Given the description of an element on the screen output the (x, y) to click on. 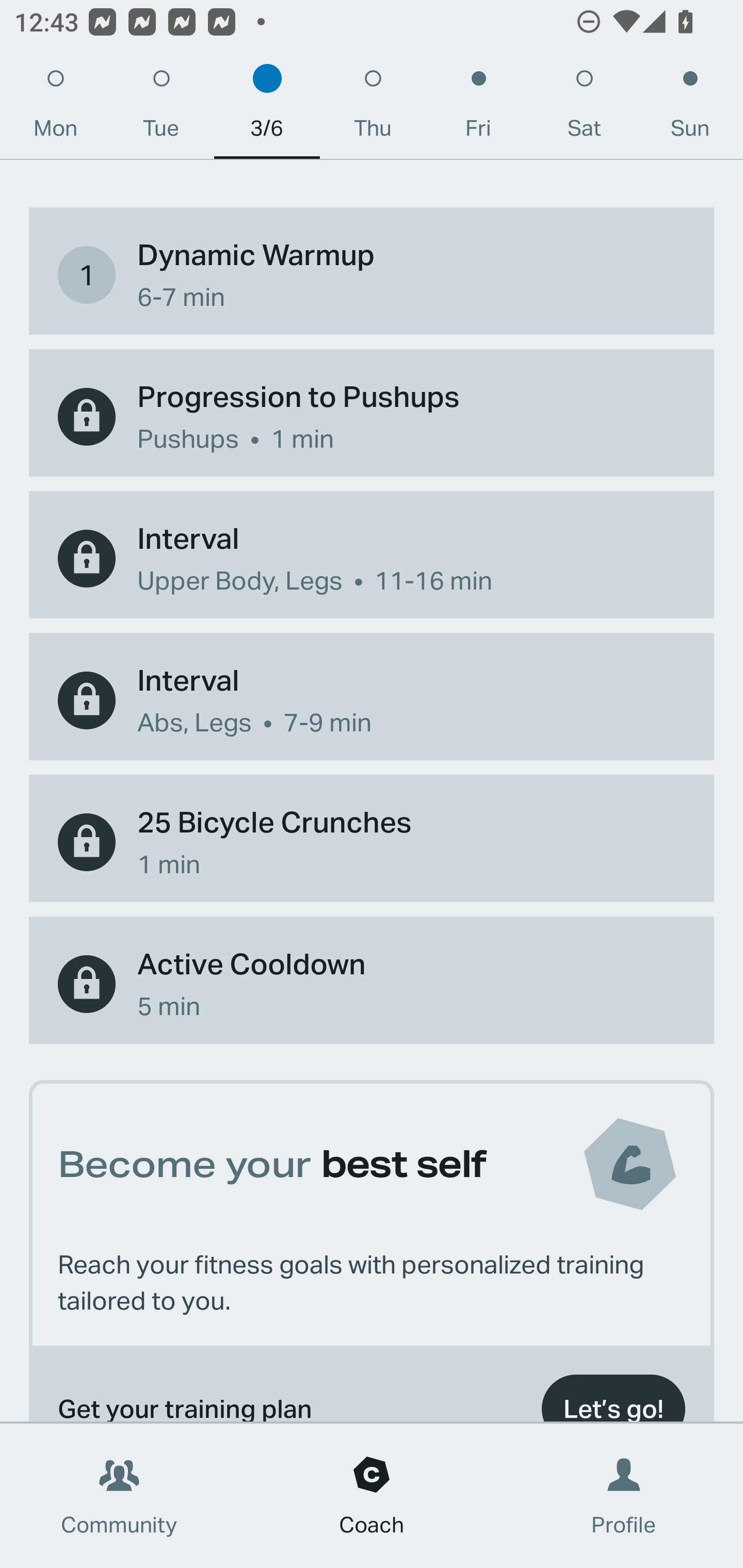
Mon (55, 108)
Tue (160, 108)
3/6 (266, 108)
Thu (372, 108)
Fri (478, 108)
Sat (584, 108)
Sun (690, 108)
1 Dynamic Warmup 6-7 min (371, 275)
Progression to Pushups Pushups  •  1 min (371, 416)
Interval Upper Body, Legs  •  11-16 min (371, 558)
Interval Abs, Legs  •  7-9 min (371, 699)
25 Bicycle Crunches 1 min (371, 842)
Active Cooldown 5 min (371, 983)
Let’s go! (613, 1393)
Community (119, 1495)
Profile (624, 1495)
